Given the description of an element on the screen output the (x, y) to click on. 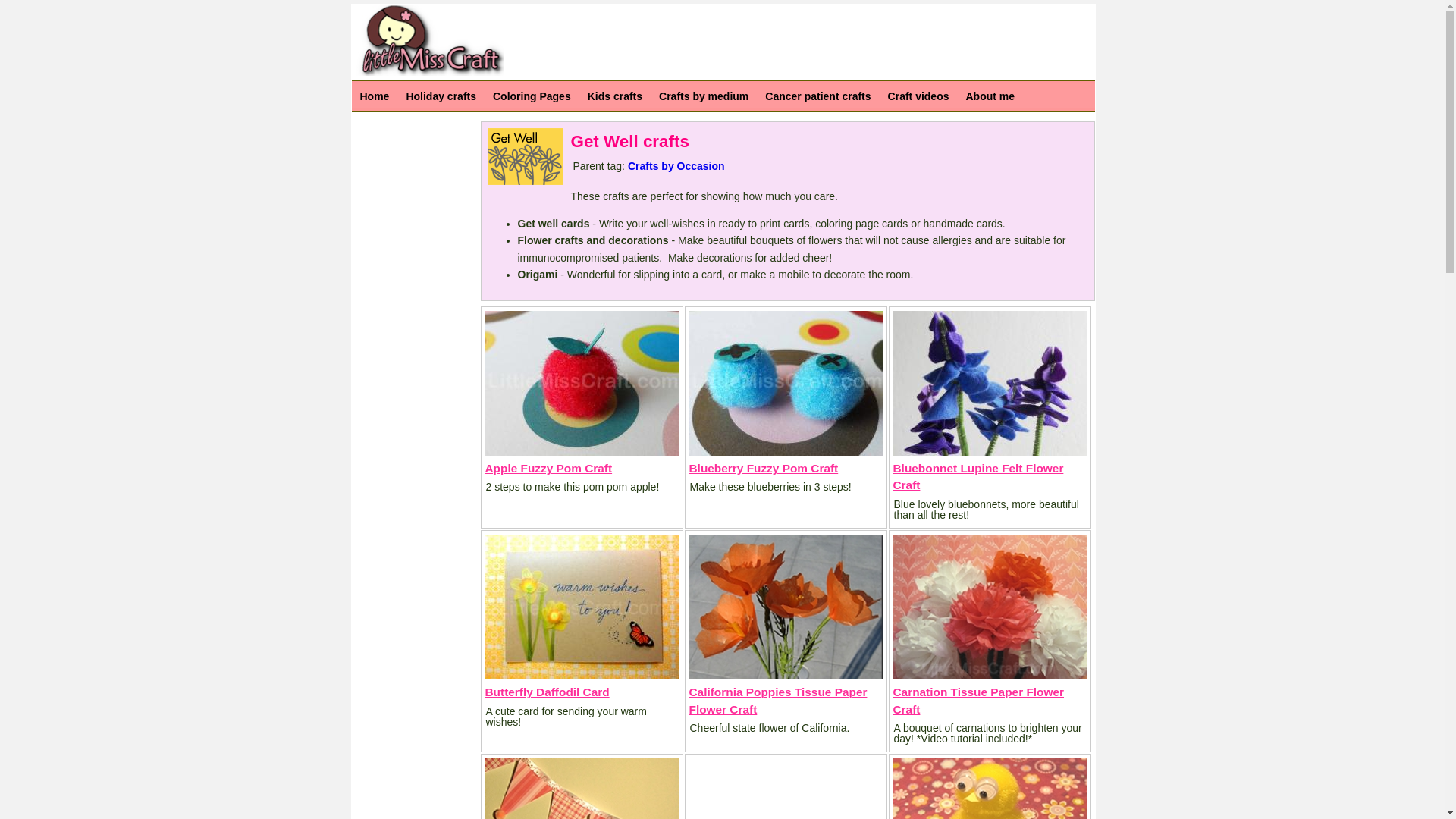
Apple Fuzzy Pom Craft (548, 468)
Crafts by medium (703, 96)
Carnation Tissue Paper Flower Craft (978, 699)
California Poppies Tissue Paper Flower Craft (777, 699)
Craft videos (918, 96)
Cancer patient crafts (818, 96)
Holiday crafts (440, 96)
Bluebonnet Lupine Felt Flower Craft (978, 476)
Home (374, 96)
Crafts by Occasion (676, 165)
Blueberry Fuzzy Pom Craft (763, 468)
About me (989, 96)
Kids crafts (614, 96)
Butterfly Daffodil Card (547, 691)
Coloring Pages (531, 96)
